Given the description of an element on the screen output the (x, y) to click on. 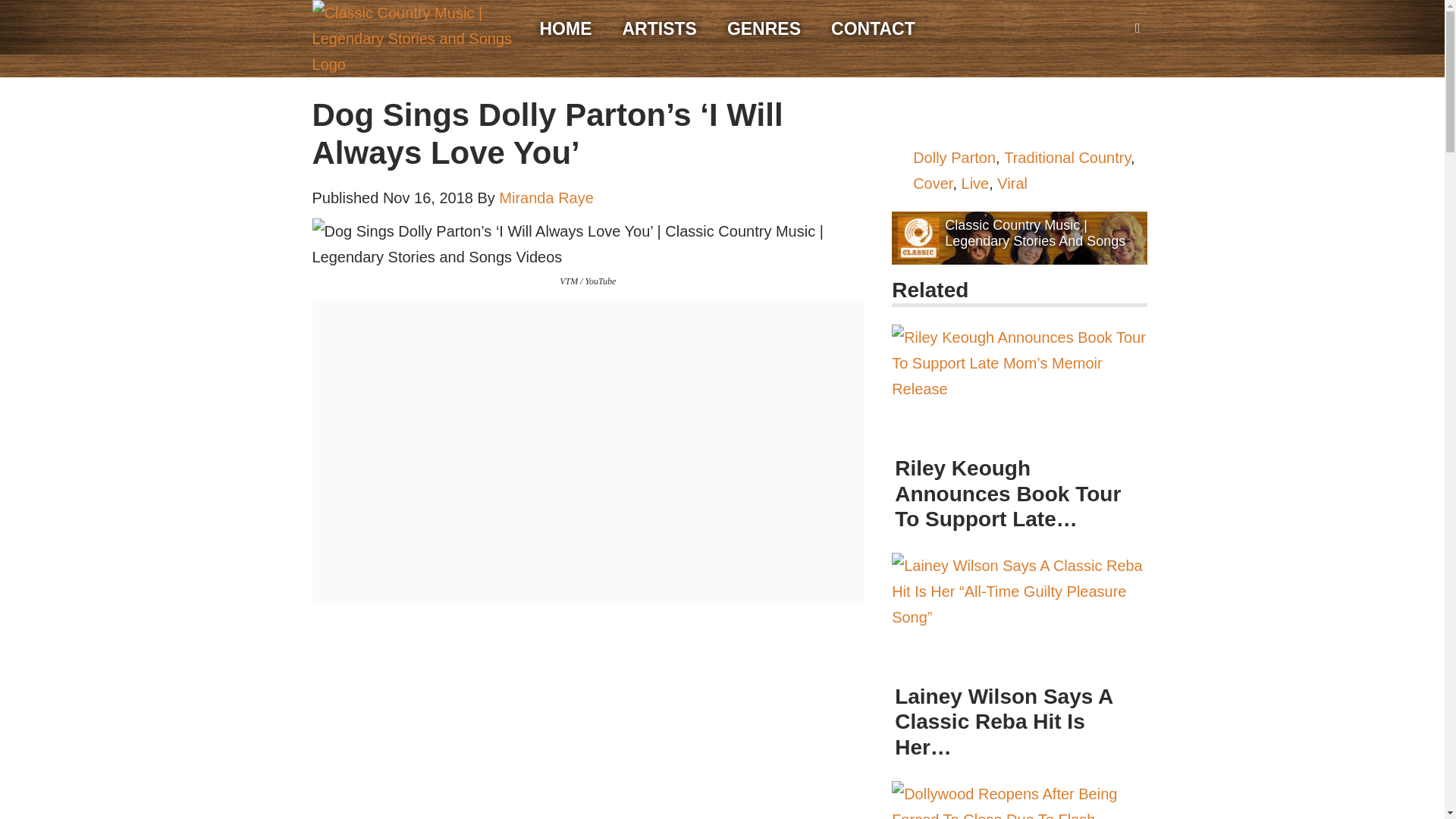
ARTISTS (658, 28)
CONTACT (873, 28)
Search (15, 6)
GENRES (763, 28)
HOME (566, 28)
